Given the description of an element on the screen output the (x, y) to click on. 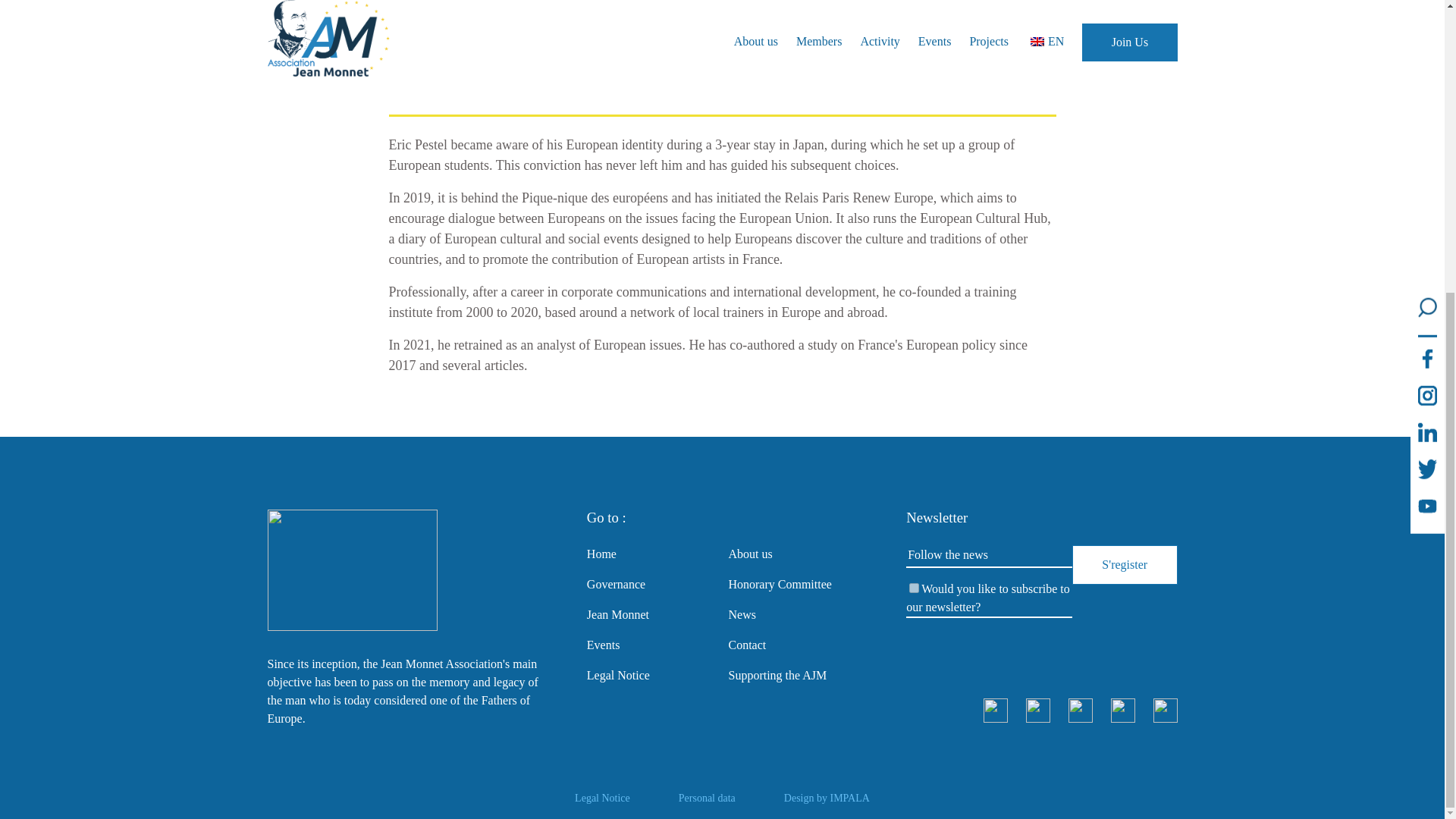
Members (451, 69)
1 (913, 587)
Home (402, 69)
